Given the description of an element on the screen output the (x, y) to click on. 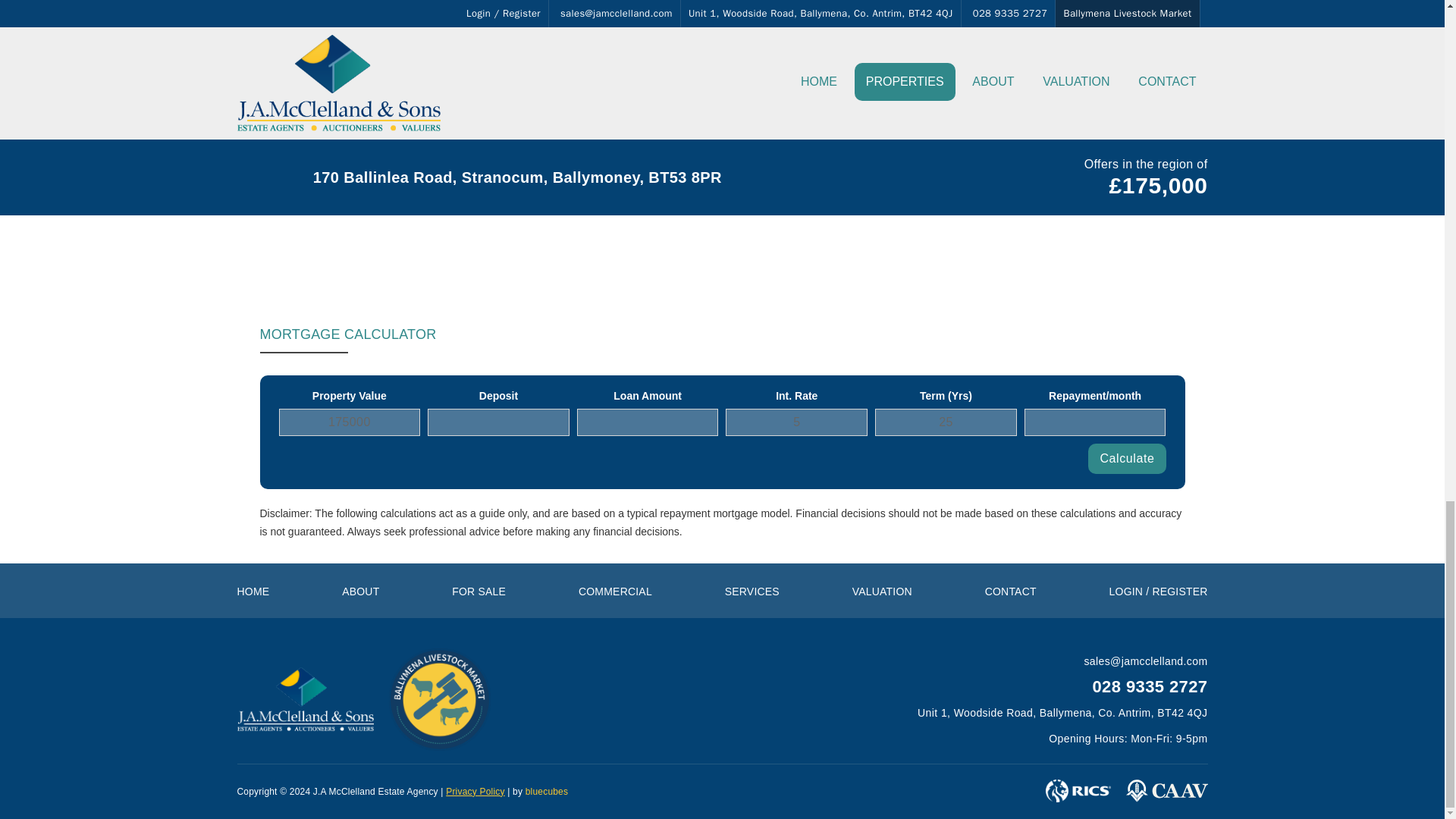
175000 (349, 421)
5 (796, 421)
25 (945, 421)
Ballymena Livestock Market (439, 699)
Calculate (1126, 458)
